Given the description of an element on the screen output the (x, y) to click on. 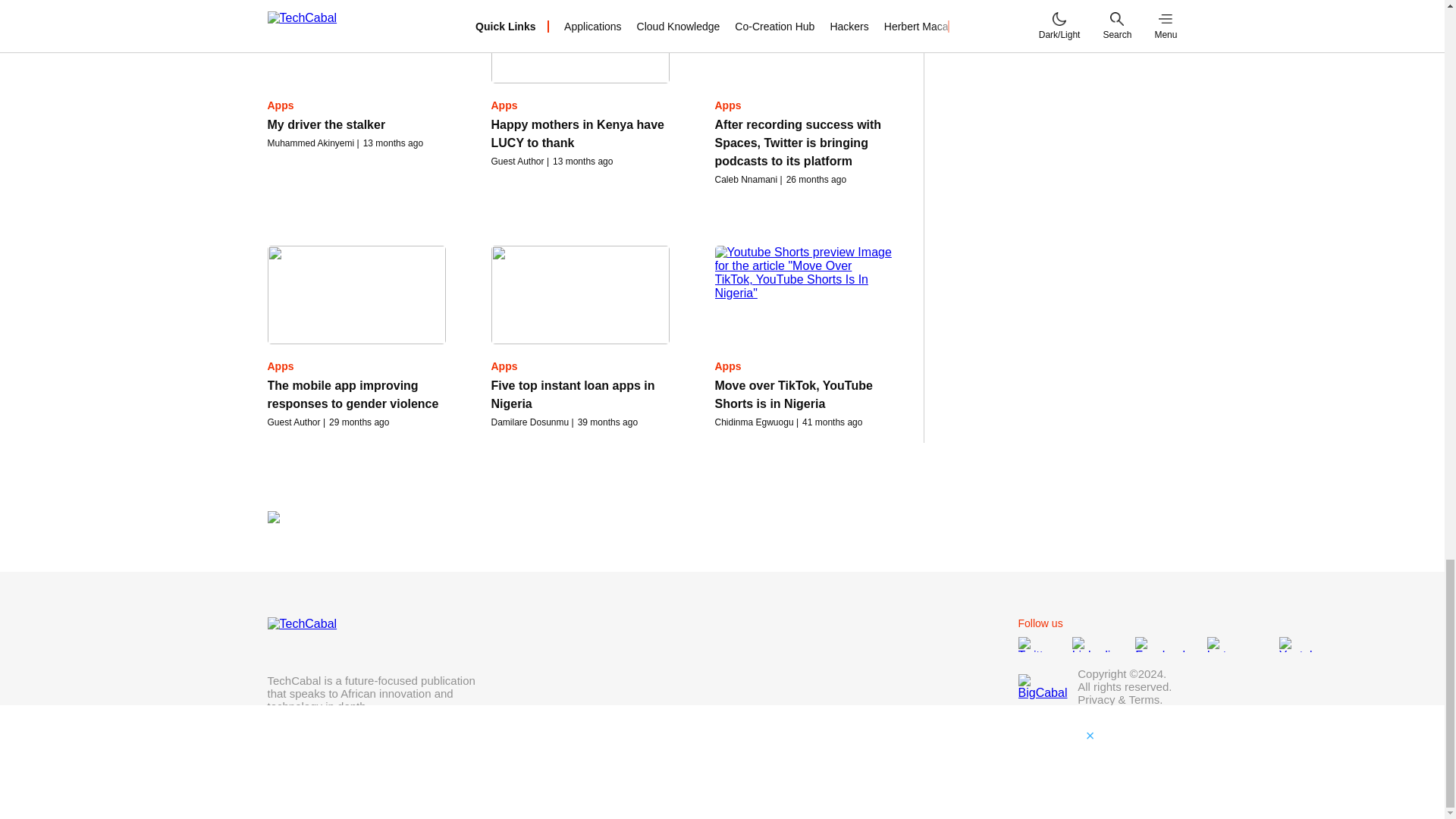
Posts by Muhammed Akinyemi (309, 143)
Posts by Chidinma Egwuogu (753, 421)
Posts by Guest Author (518, 161)
Posts by Caleb Nnamani (745, 179)
Posts by Damilare Dosunmu (530, 421)
Posts by Guest Author (293, 421)
